Given the description of an element on the screen output the (x, y) to click on. 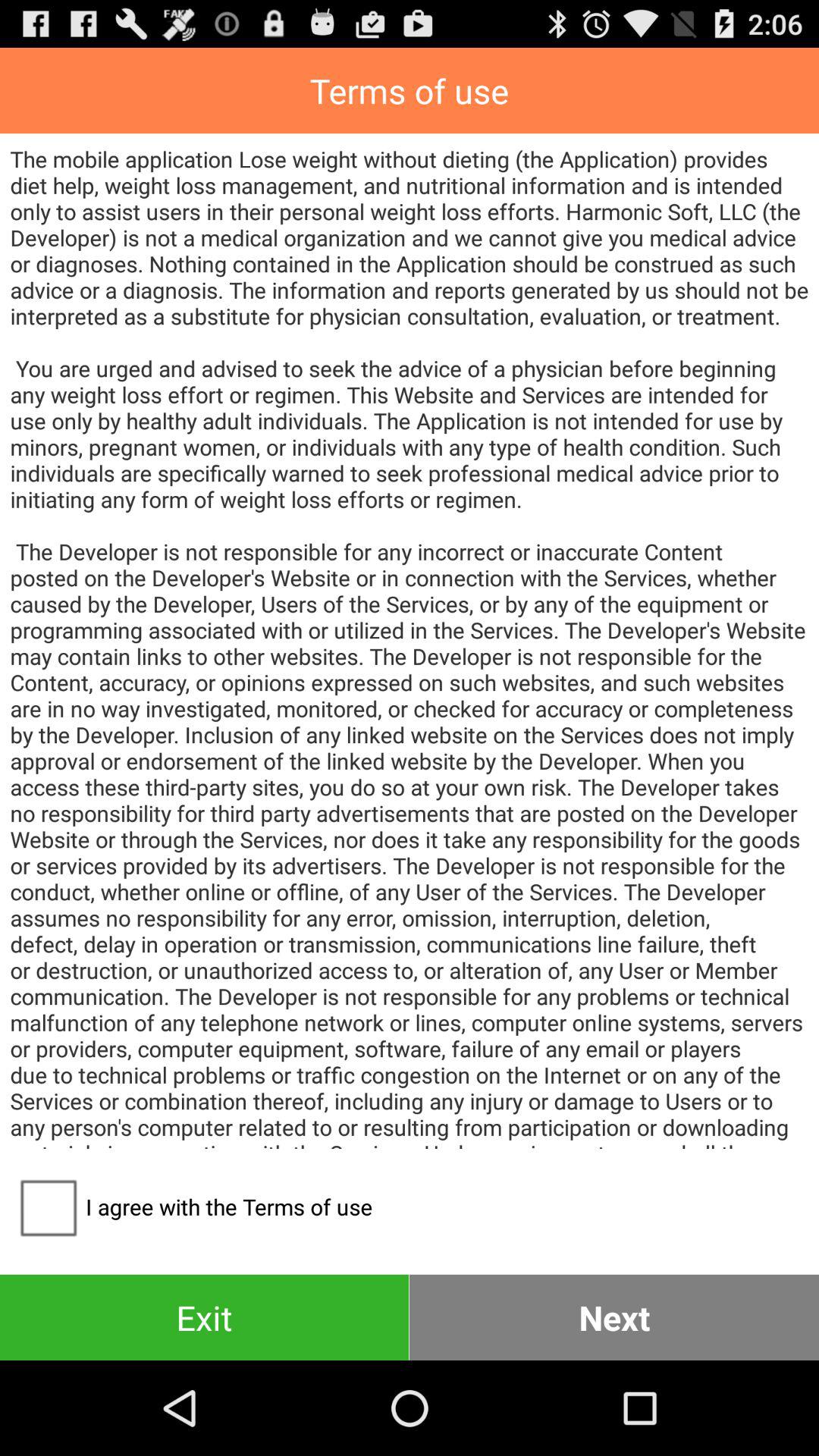
choose the button next to the exit (614, 1317)
